Given the description of an element on the screen output the (x, y) to click on. 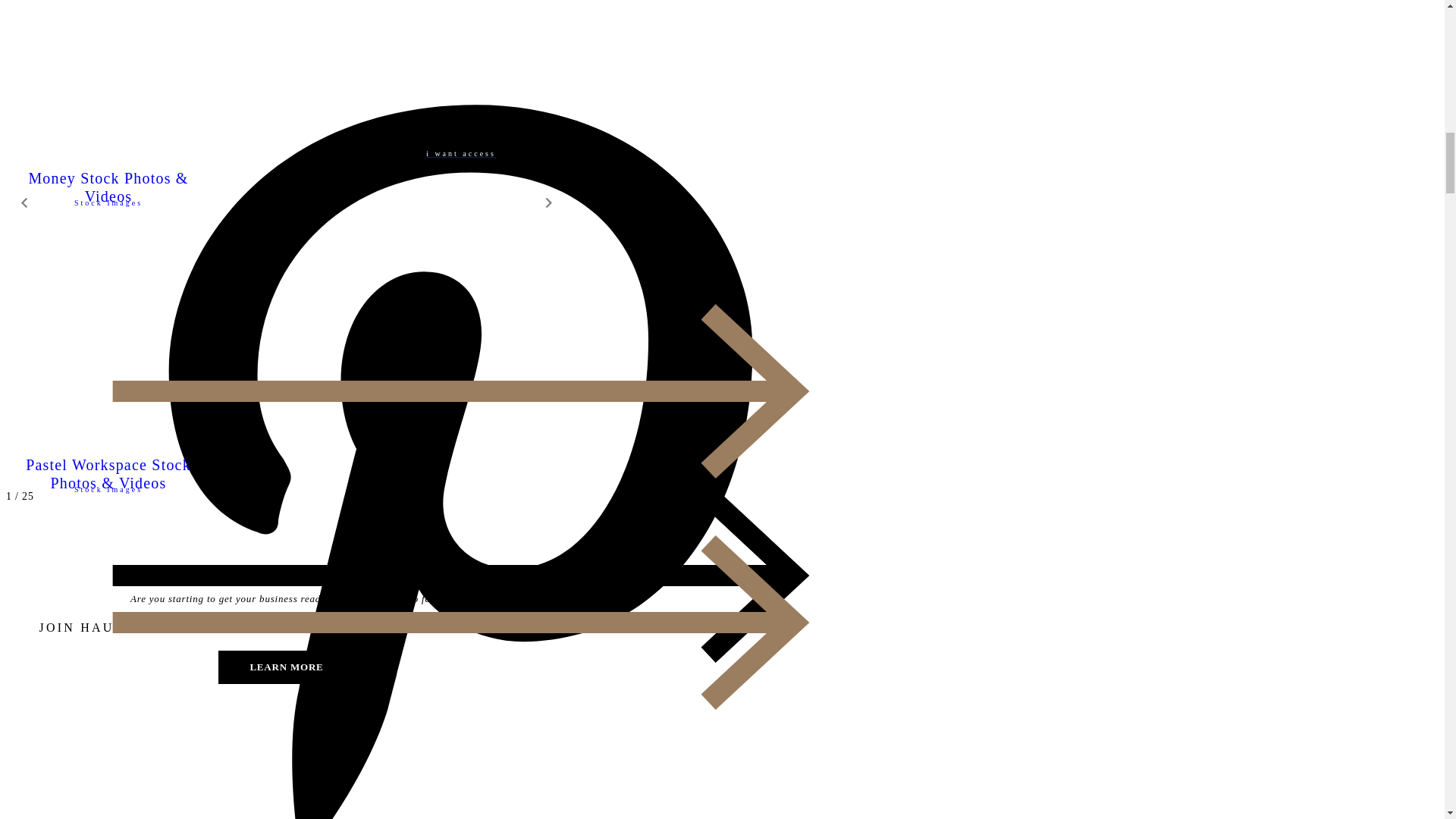
LEARN MORE (286, 667)
